Given the description of an element on the screen output the (x, y) to click on. 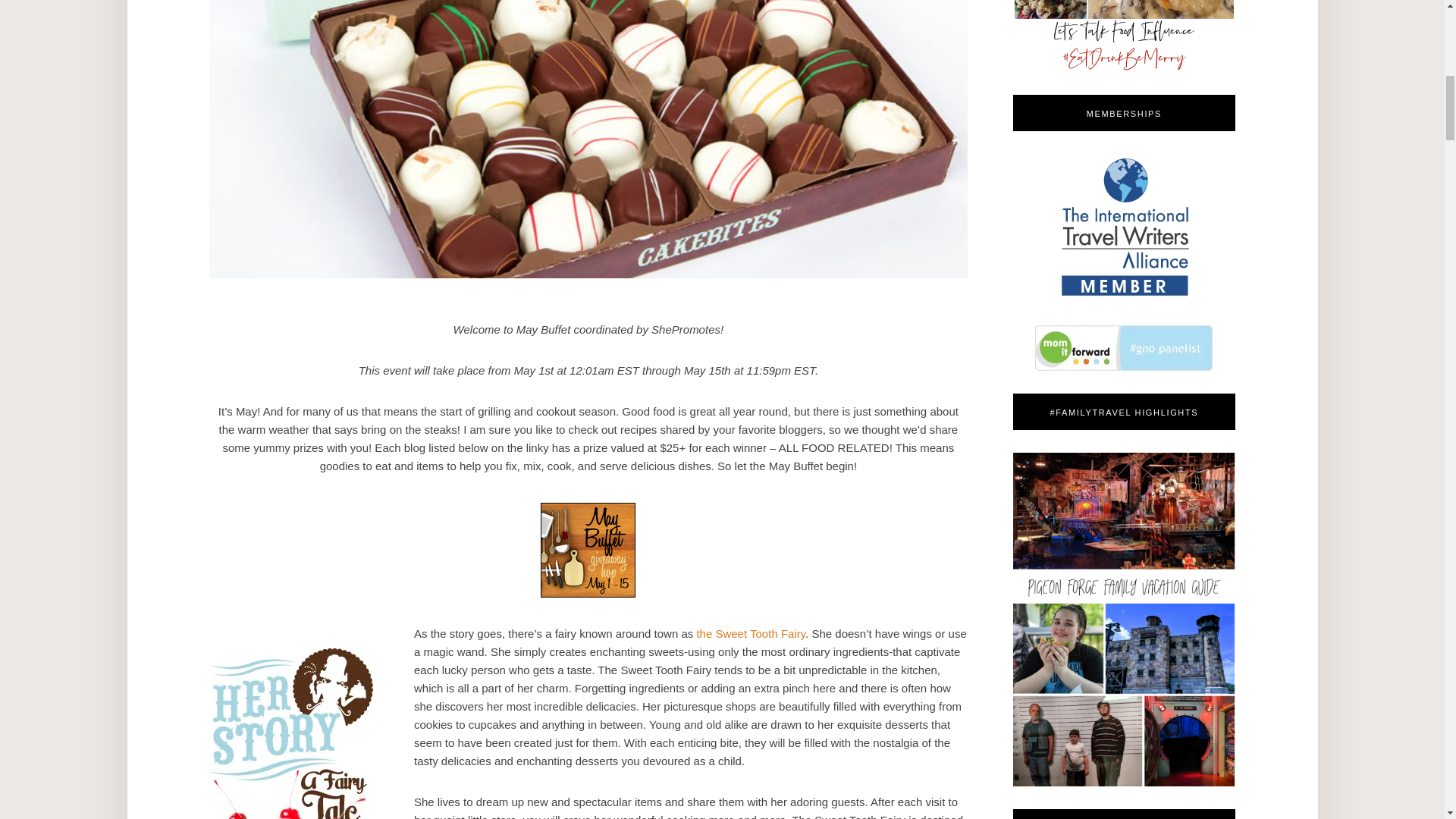
image5 (294, 733)
MayBuffet-1 (587, 549)
